Given the description of an element on the screen output the (x, y) to click on. 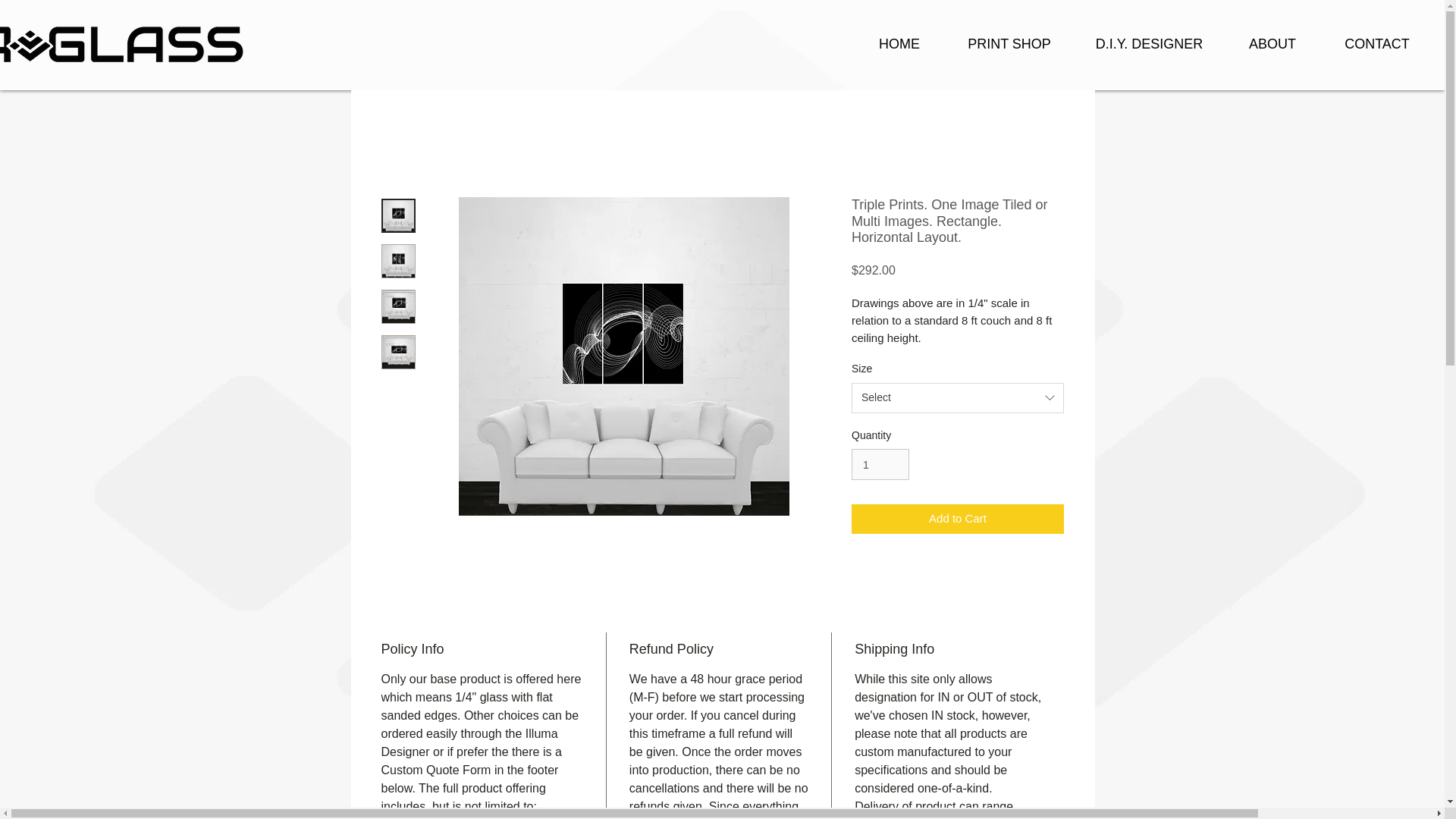
1 (879, 463)
HOME (898, 43)
ABOUT (1272, 43)
PRINT SHOP (1008, 43)
Select (957, 398)
CONTACT (1376, 43)
Add to Cart (957, 518)
D.I.Y. DESIGNER (1149, 43)
